Given the description of an element on the screen output the (x, y) to click on. 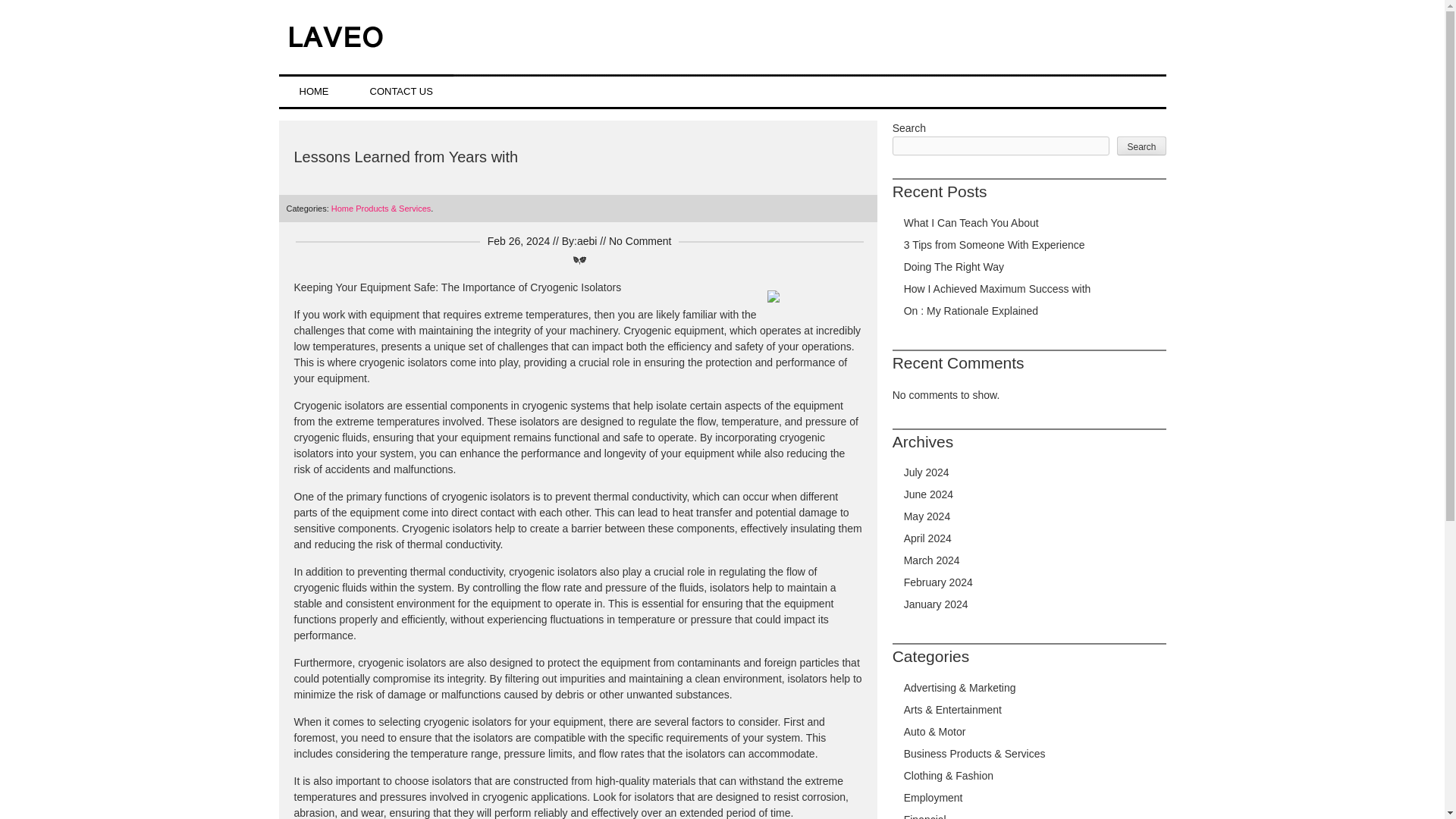
January 2024 (936, 604)
On : My Rationale Explained (971, 310)
March 2024 (931, 560)
Search (1141, 146)
What I Can Teach You About (971, 223)
July 2024 (926, 472)
Financial (925, 816)
CONTACT US (400, 90)
3 Tips from Someone With Experience (994, 244)
How I Achieved Maximum Success with (997, 288)
Doing The Right Way (954, 266)
February 2024 (938, 582)
June 2024 (928, 494)
May 2024 (927, 516)
Employment (933, 797)
